Given the description of an element on the screen output the (x, y) to click on. 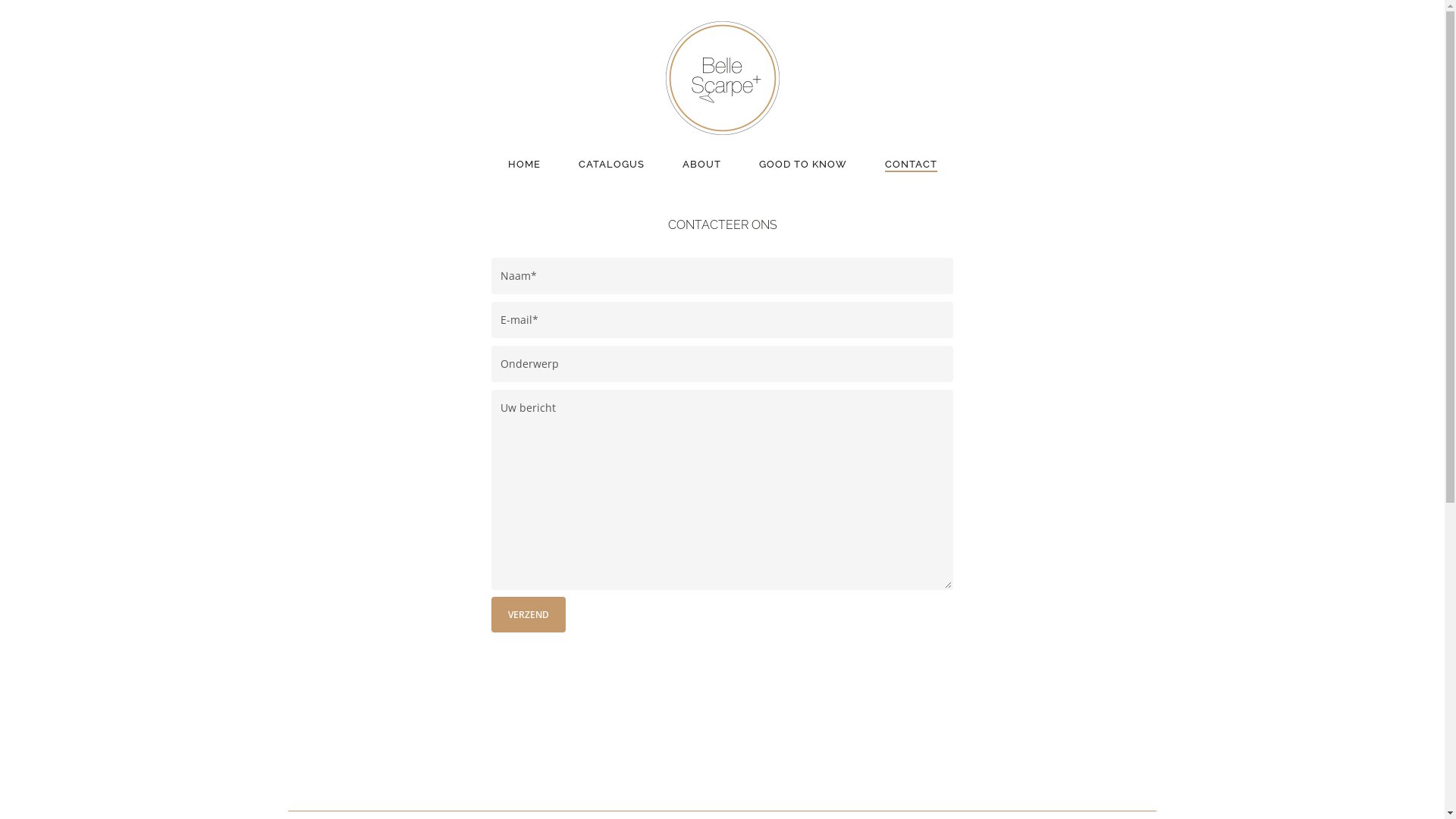
GOOD TO KNOW Element type: text (802, 164)
Verzend Element type: text (528, 614)
HOME Element type: text (524, 164)
CONTACT Element type: text (910, 164)
CATALOGUS Element type: text (610, 164)
ABOUT Element type: text (701, 164)
